Given the description of an element on the screen output the (x, y) to click on. 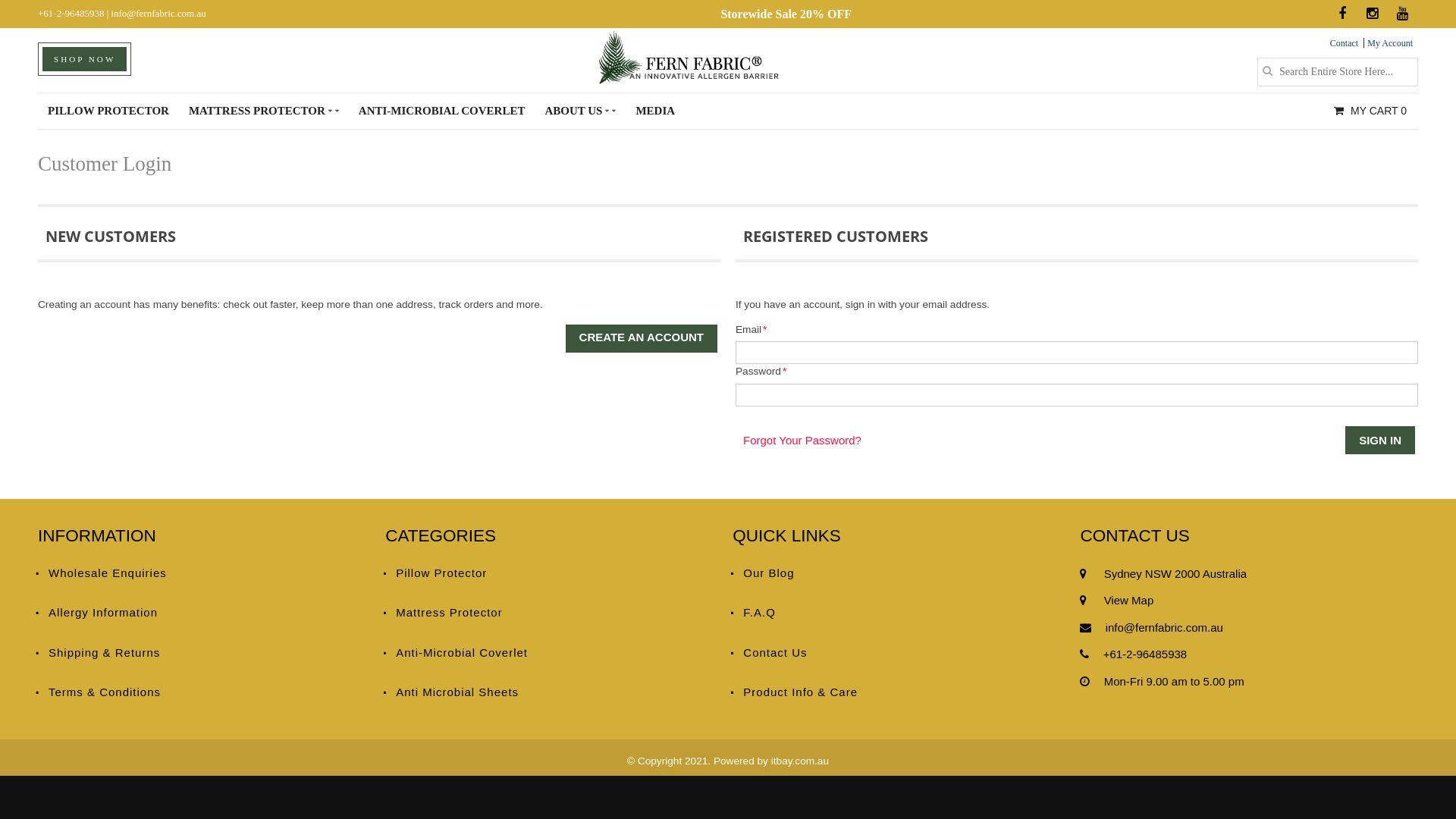
Allergy Information Element type: text (203, 613)
+61-2-96485938 Element type: text (70, 12)
Mattress Protector Element type: text (551, 613)
itbay.com.au Element type: text (799, 760)
MY CART 0 Element type: text (1370, 110)
View Map Element type: text (1127, 599)
SIGN IN Element type: text (1380, 440)
ANTI-MICROBIAL COVERLET Element type: text (441, 110)
Wholesale Enquiries Element type: text (203, 573)
Contact Element type: text (1344, 42)
F.A.Q Element type: text (898, 613)
Search Element type: hover (1267, 71)
Shipping & Returns Element type: text (203, 653)
Product Info & Care Element type: text (898, 692)
My Account Element type: text (1389, 42)
PILLOW PROTECTOR Element type: text (107, 110)
CREATE AN ACCOUNT Element type: text (641, 338)
Email Element type: hover (1076, 352)
Our Blog Element type: text (898, 573)
MEDIA Element type: text (654, 110)
Forgot Your Password? Element type: text (802, 439)
SHOP NOW Element type: text (84, 58)
+61-2-96485938 Element type: text (1145, 653)
Anti-Microbial Coverlet Element type: text (551, 653)
info@fernfabric.com.au Element type: text (1164, 627)
Password Element type: hover (1076, 394)
info@fernfabric.com.au Element type: text (157, 12)
ABOUT US Element type: text (579, 110)
MATTRESS PROTECTOR Element type: text (263, 110)
Anti Microbial Sheets Element type: text (551, 692)
Terms & Conditions Element type: text (203, 692)
Contact Us Element type: text (898, 653)
Pillow Protector Element type: text (551, 573)
